Given the description of an element on the screen output the (x, y) to click on. 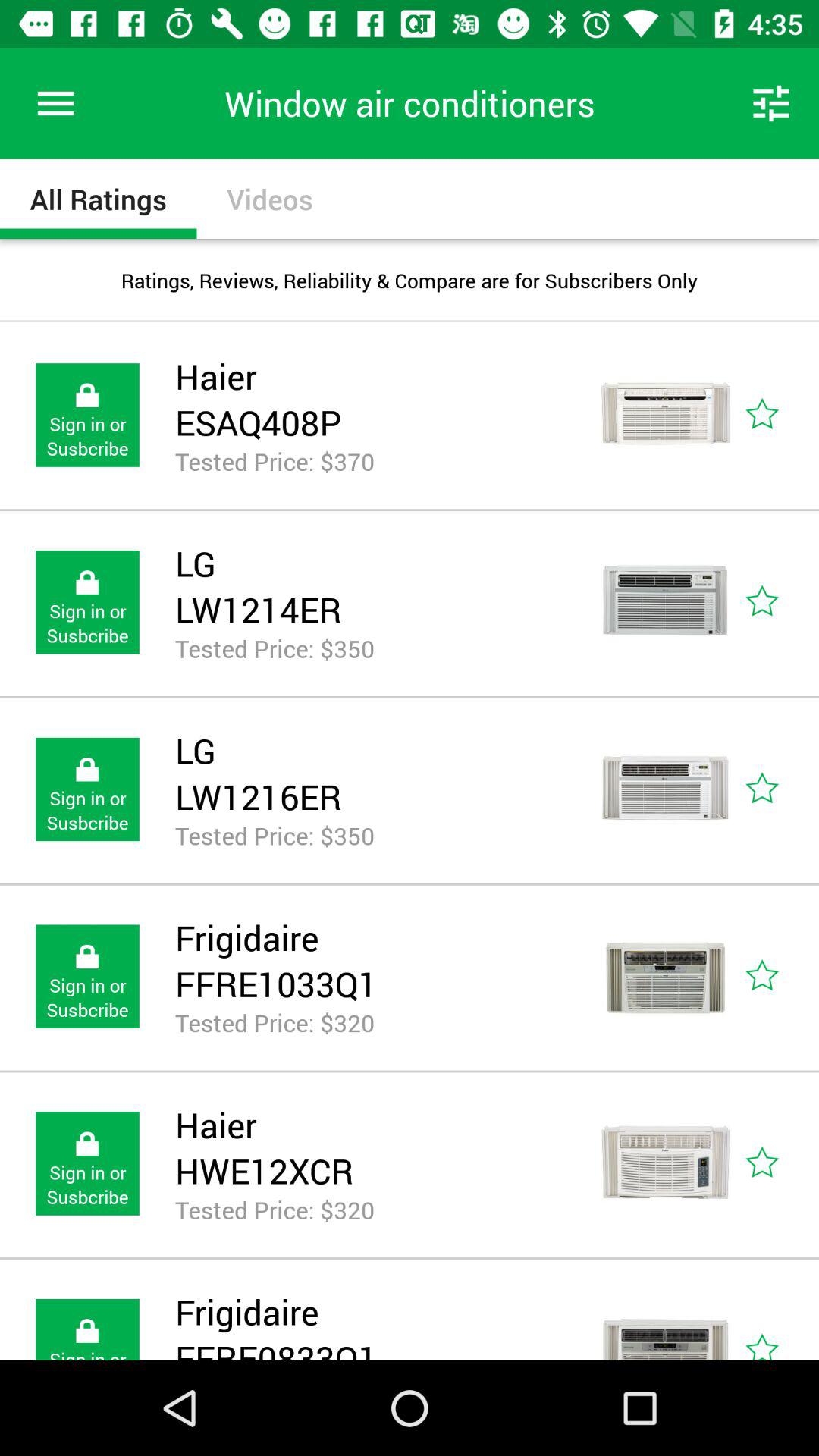
press icon above the ratings reviews reliability icon (771, 103)
